Given the description of an element on the screen output the (x, y) to click on. 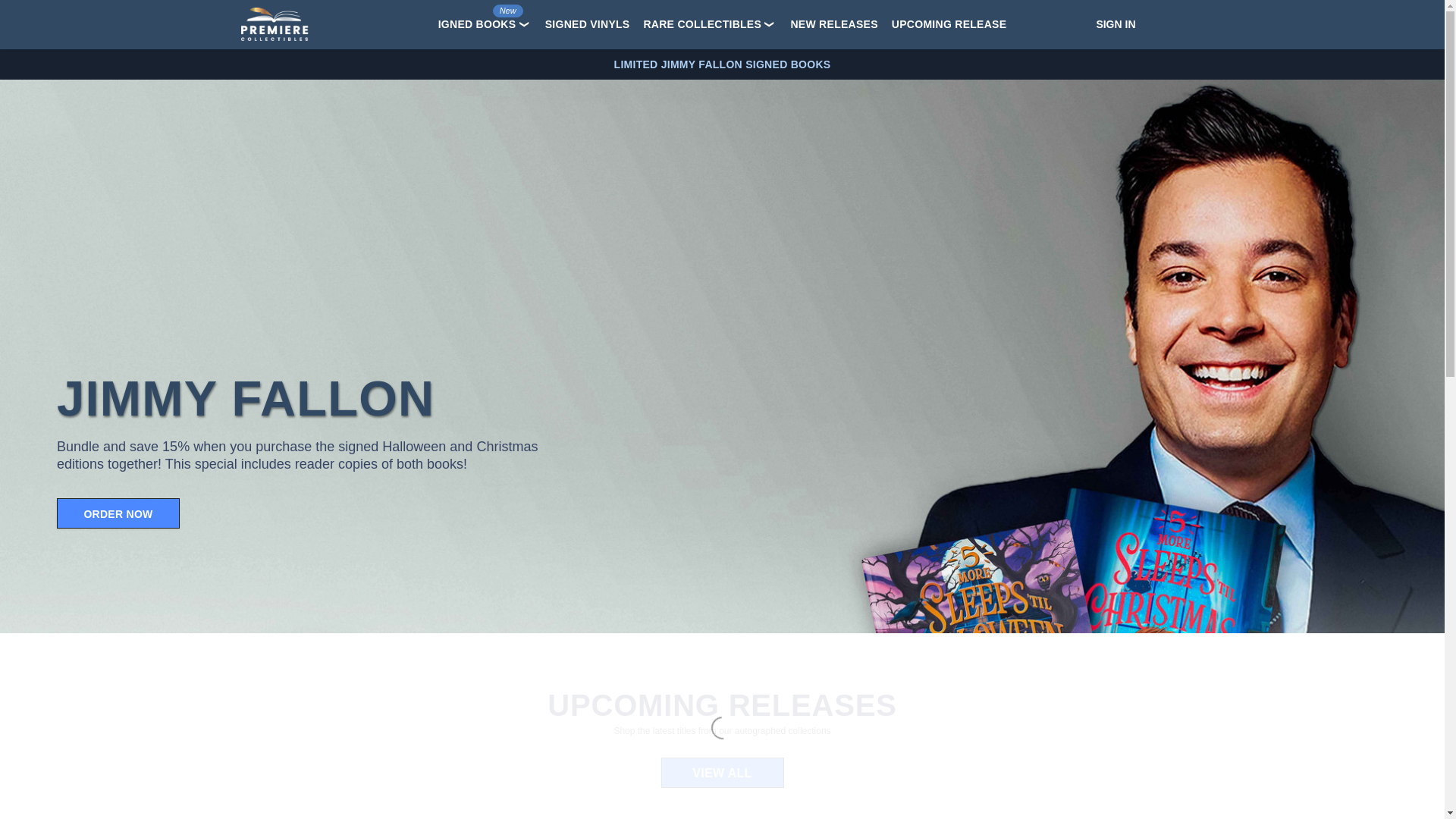
NEW RELEASES (833, 25)
RARE COLLECTIBLES (702, 24)
Premiere Collectibles (274, 24)
SIGNED BOOKS (472, 24)
UPCOMING RELEASES (952, 25)
SIGNED VINYLS (587, 25)
